Given the description of an element on the screen output the (x, y) to click on. 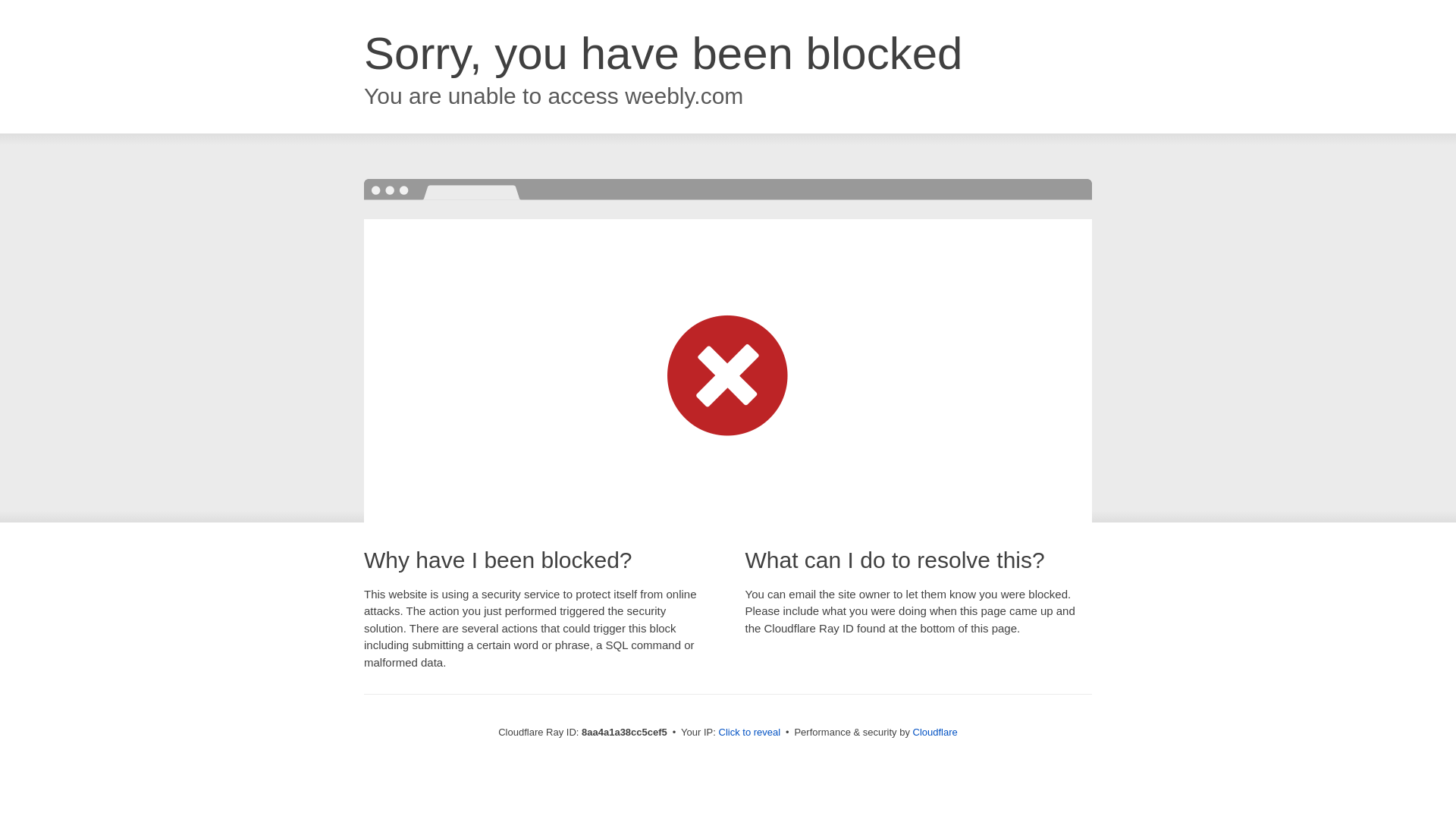
Click to reveal (749, 732)
Cloudflare (935, 731)
